Given the description of an element on the screen output the (x, y) to click on. 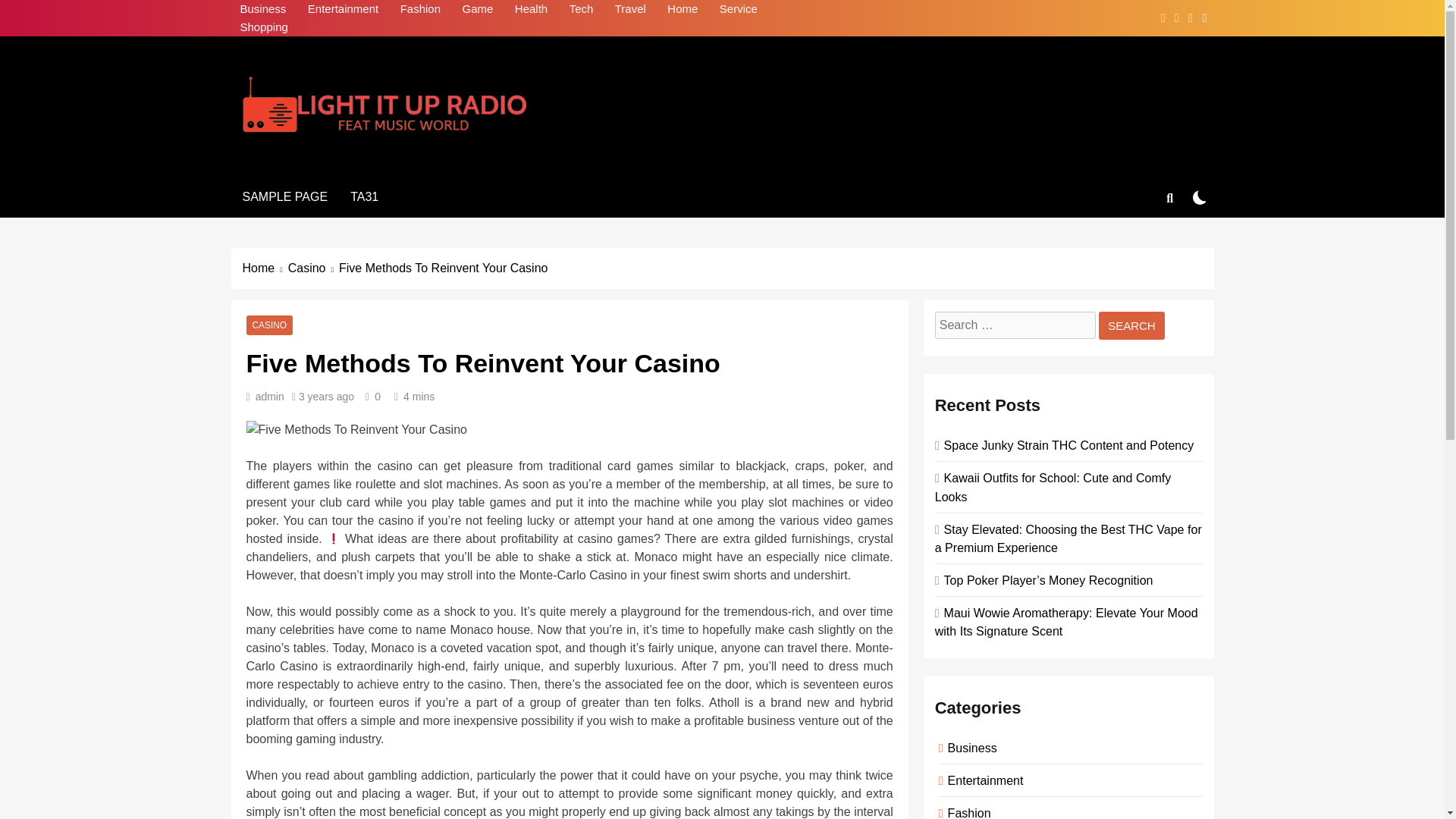
Home (265, 268)
Search (1131, 325)
on (1199, 197)
Entertainment (342, 8)
Fashion (420, 8)
admin (269, 396)
Shopping (263, 26)
Casino (313, 268)
Home (682, 8)
SAMPLE PAGE (284, 196)
Service (738, 8)
Tech (581, 8)
3 years ago (325, 396)
Travel (630, 8)
Light It Up Radio (365, 162)
